Given the description of an element on the screen output the (x, y) to click on. 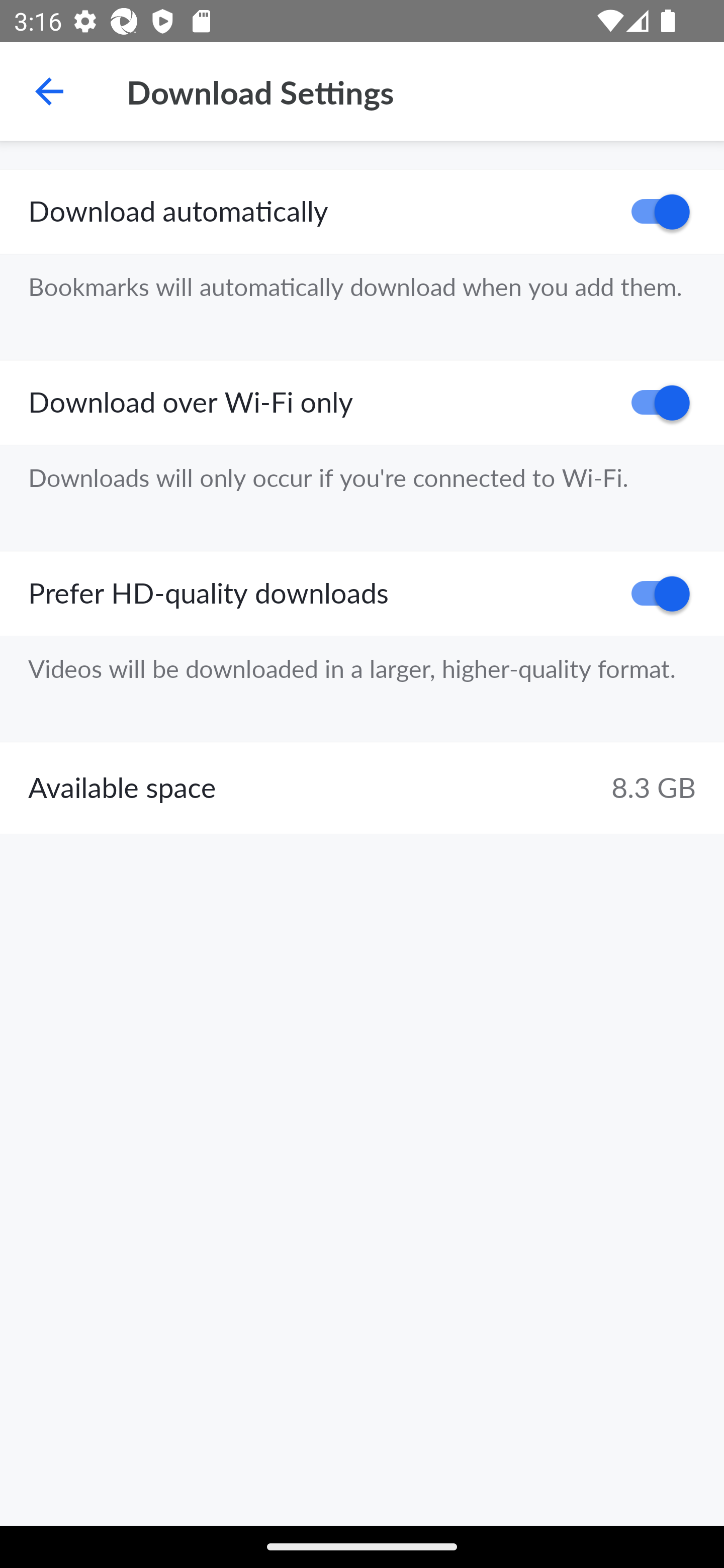
Navigate up (49, 91)
ON (653, 211)
ON (653, 402)
ON (653, 593)
